Given the description of an element on the screen output the (x, y) to click on. 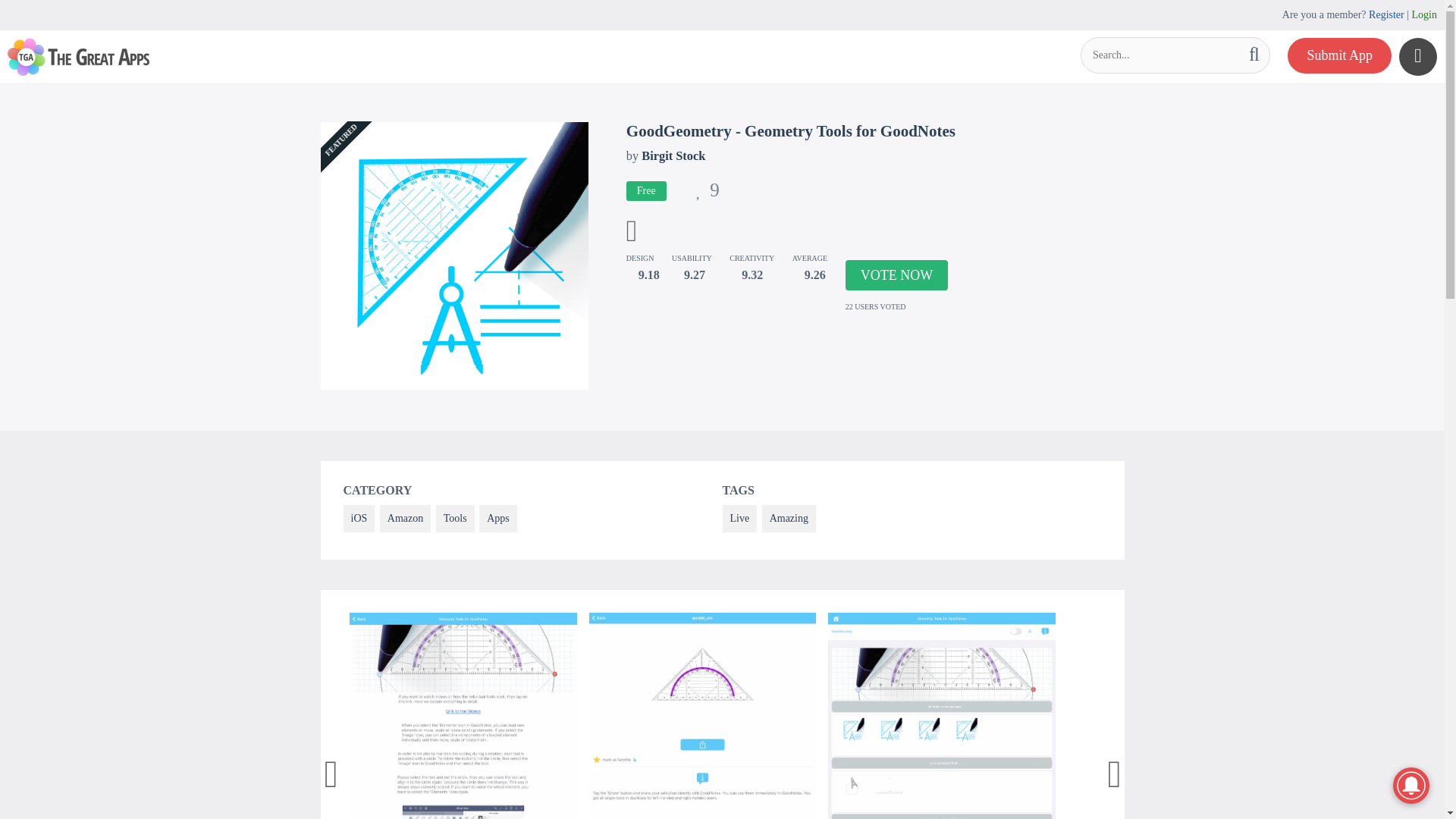
Submit App (1339, 55)
The Great Apps (78, 56)
Favourite (707, 193)
Login (1424, 14)
Register (1386, 14)
